Given the description of an element on the screen output the (x, y) to click on. 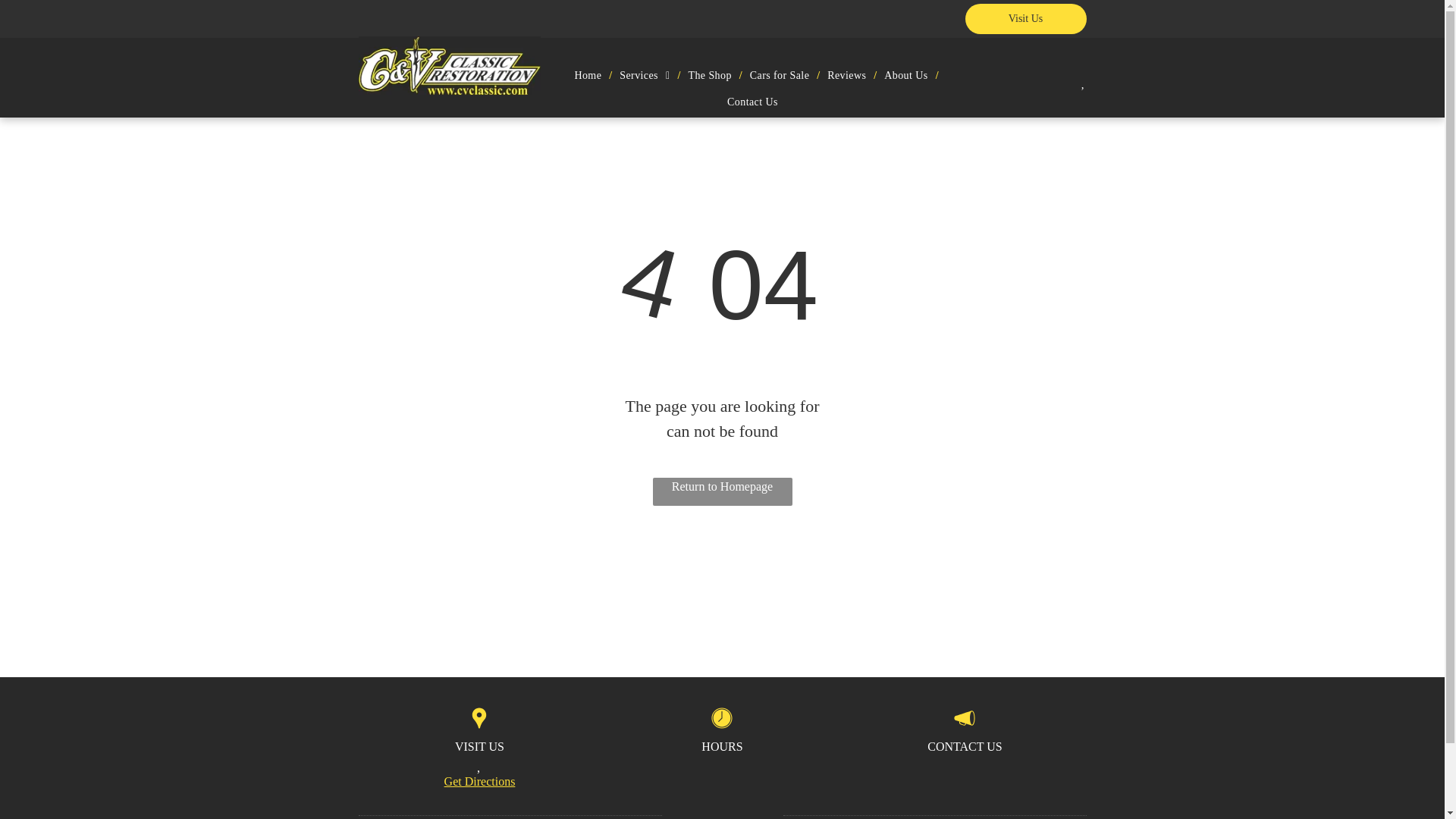
The Shop (709, 75)
Get Directions (478, 781)
Home (587, 75)
Contact Us (752, 100)
Visit Us (1024, 19)
Services (643, 75)
Return to Homepage (722, 491)
Reviews (846, 75)
Cars for Sale (779, 75)
About Us (905, 75)
